Given the description of an element on the screen output the (x, y) to click on. 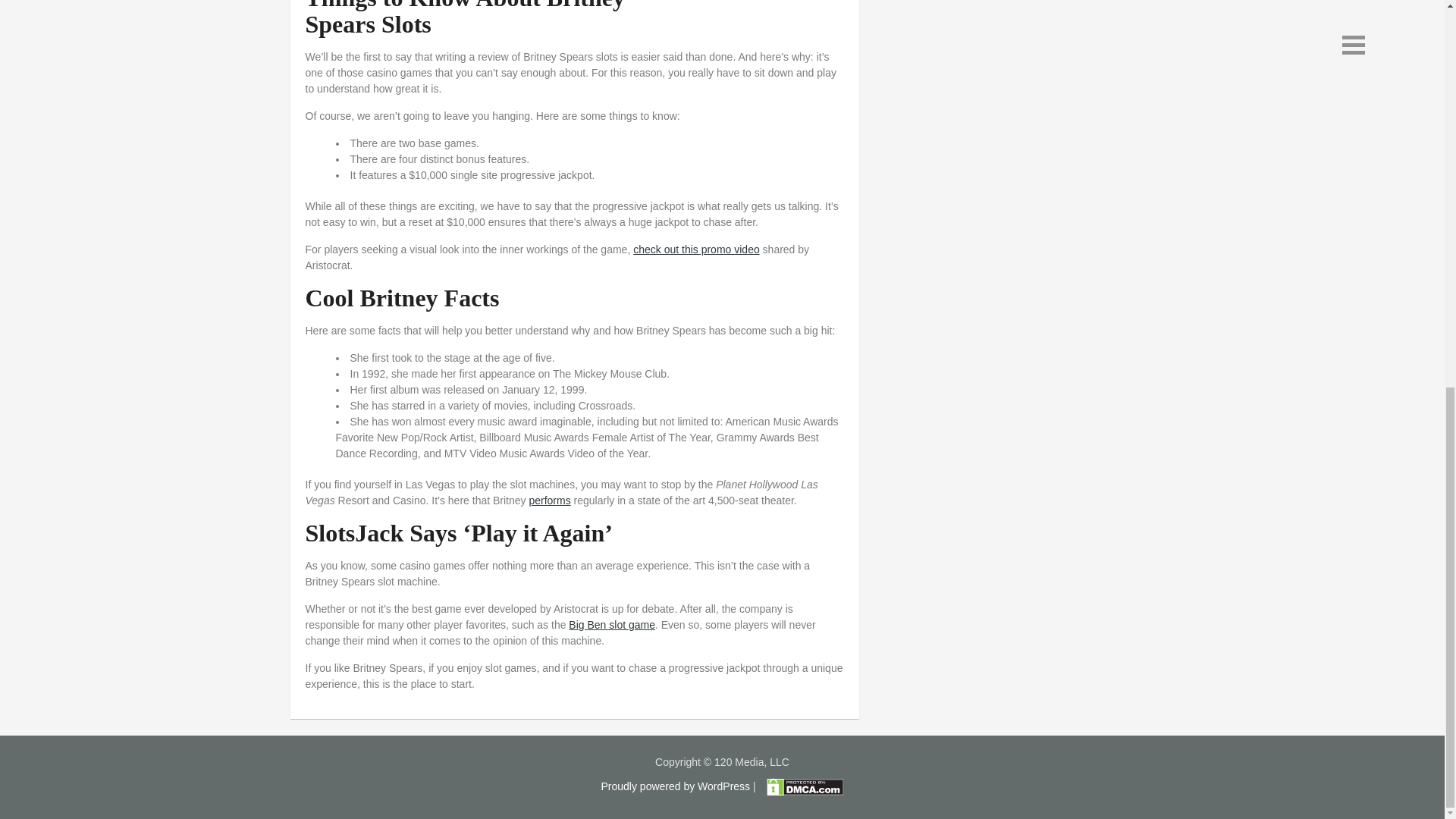
DMCA.com Protection Status (801, 786)
Big Ben slot game (612, 624)
performs (549, 500)
Proudly powered by WordPress (674, 786)
check out this promo video (696, 249)
